Given the description of an element on the screen output the (x, y) to click on. 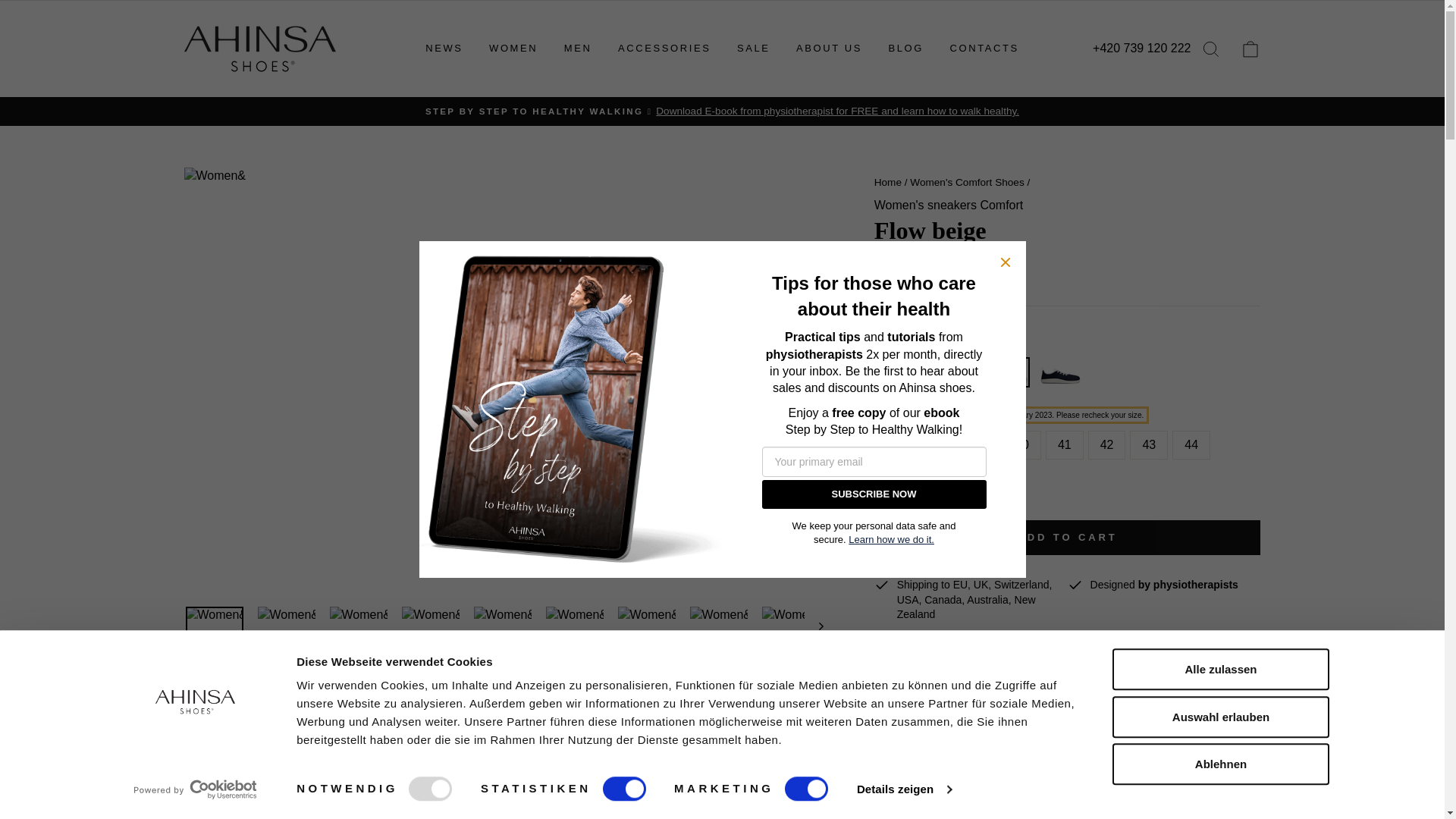
Details zeigen (904, 789)
Back to the frontpage (888, 182)
